Given the description of an element on the screen output the (x, y) to click on. 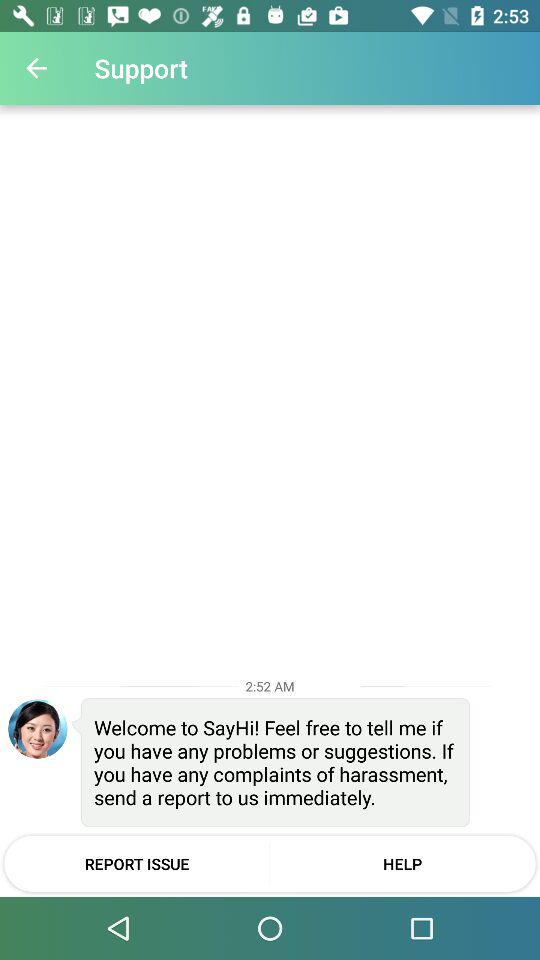
launch help at the bottom right corner (402, 863)
